Given the description of an element on the screen output the (x, y) to click on. 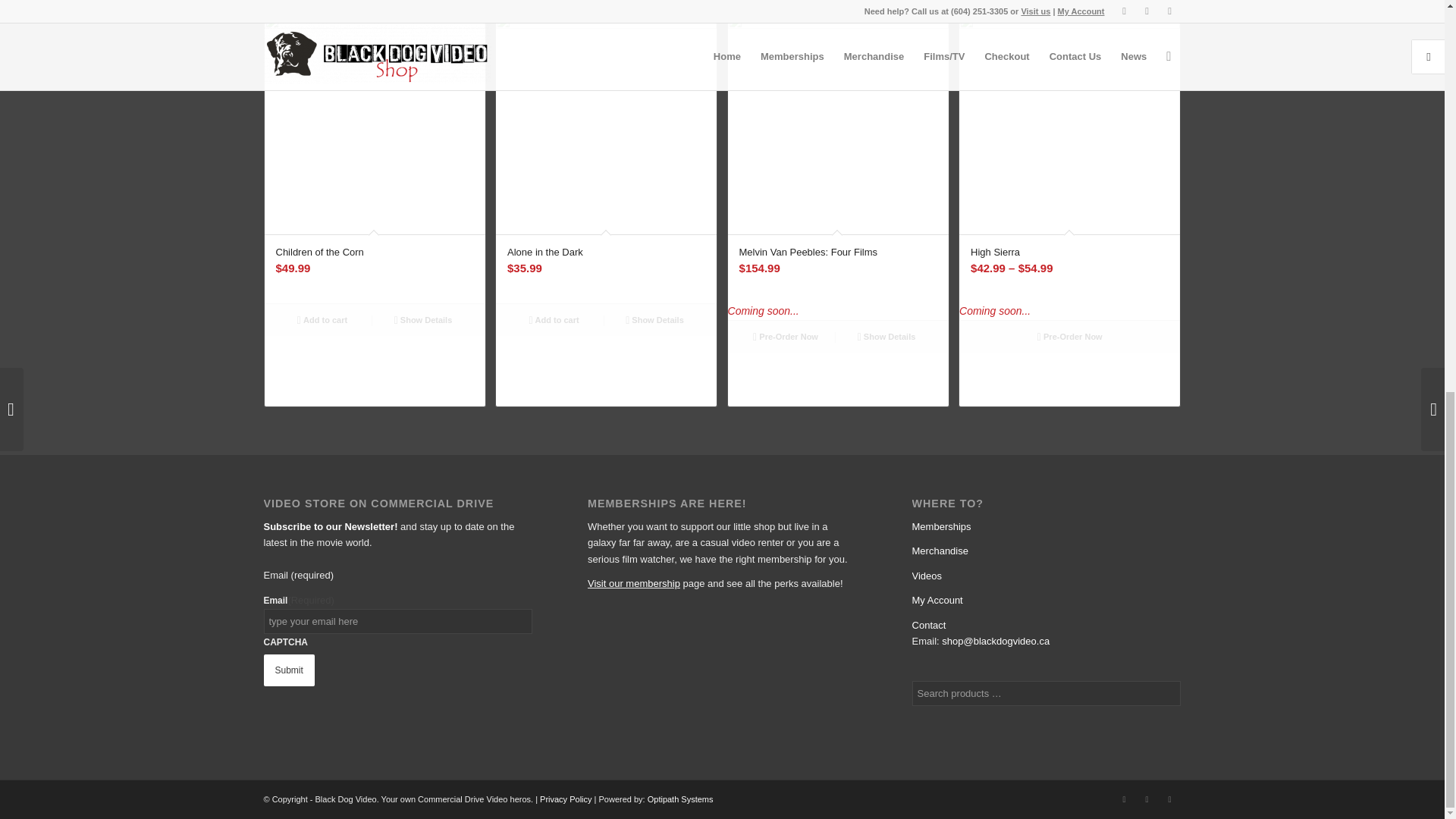
Pre-Order Now (785, 336)
Show Details (422, 320)
Instagram (1146, 798)
Show Details (654, 320)
Add to cart (321, 320)
Submit (288, 670)
Twitter (1124, 798)
Add to cart (553, 320)
